Given the description of an element on the screen output the (x, y) to click on. 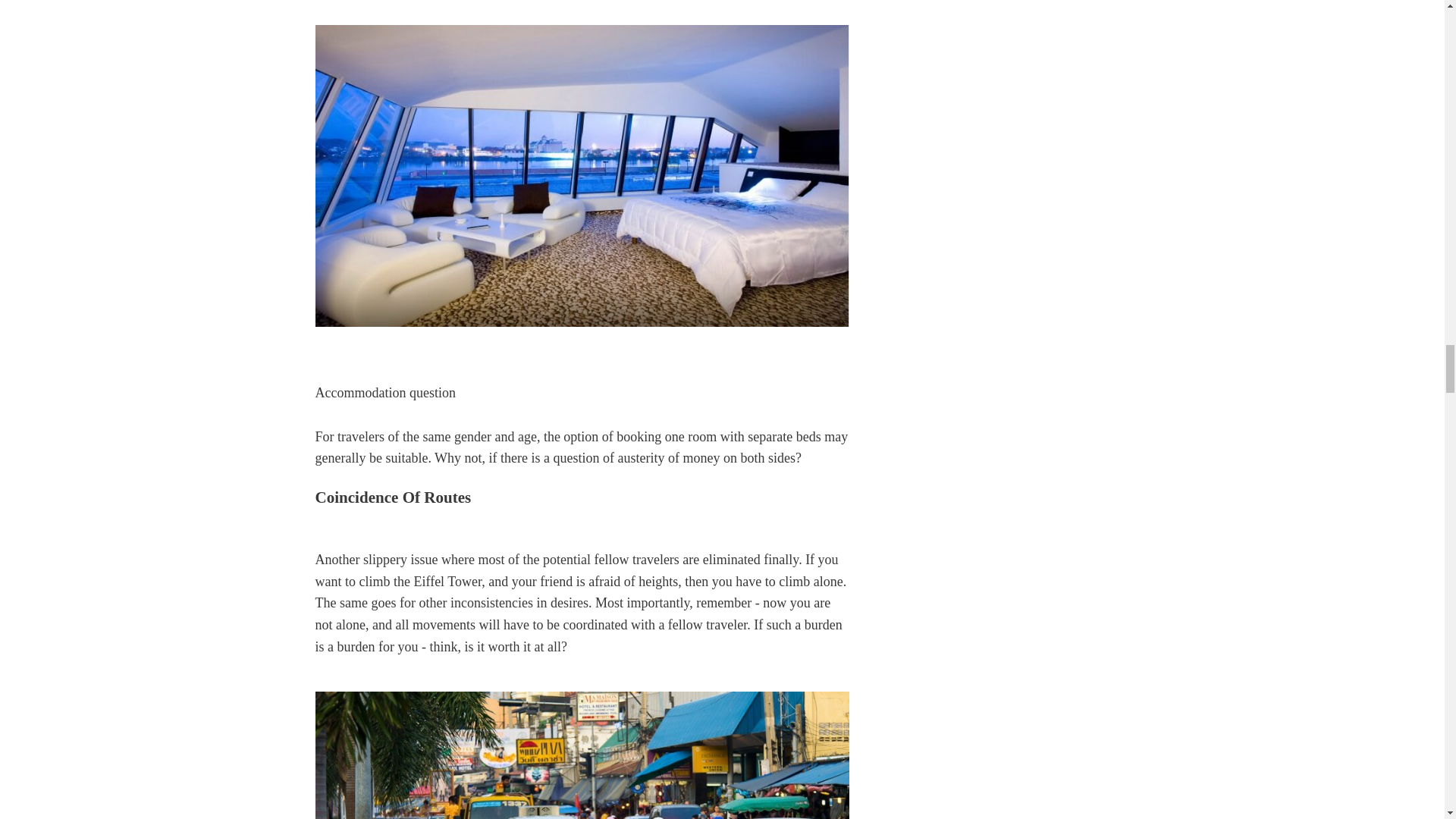
 Route match (581, 755)
